Given the description of an element on the screen output the (x, y) to click on. 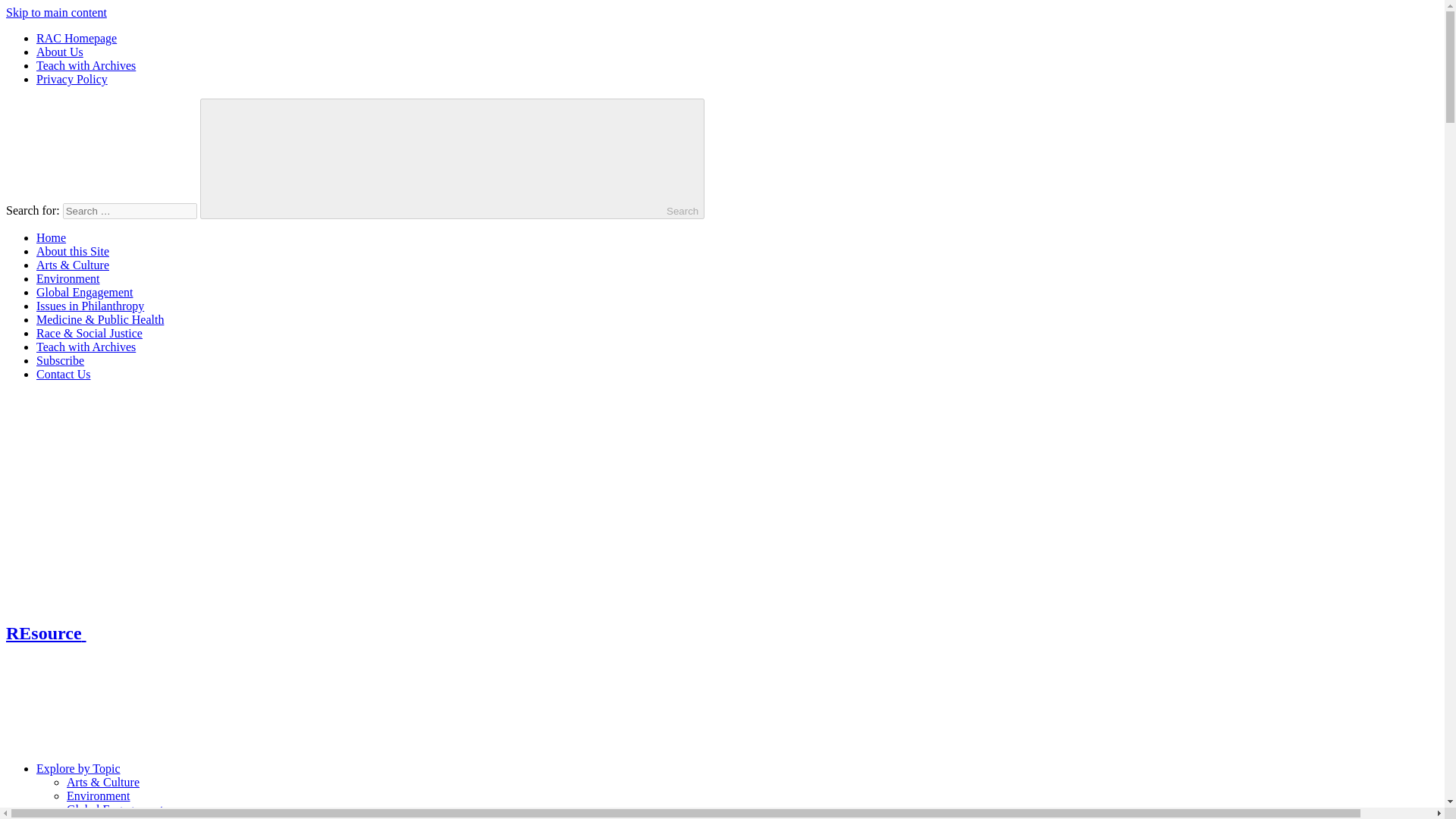
Issues in Philanthropy (120, 817)
Environment (68, 278)
Teach with Archives (85, 346)
RAC Homepage (76, 38)
Subscribe (60, 359)
Global Engagement (84, 291)
Teach with Archives (85, 65)
Explore by Topic (305, 768)
Privacy Policy (71, 78)
